Given the description of an element on the screen output the (x, y) to click on. 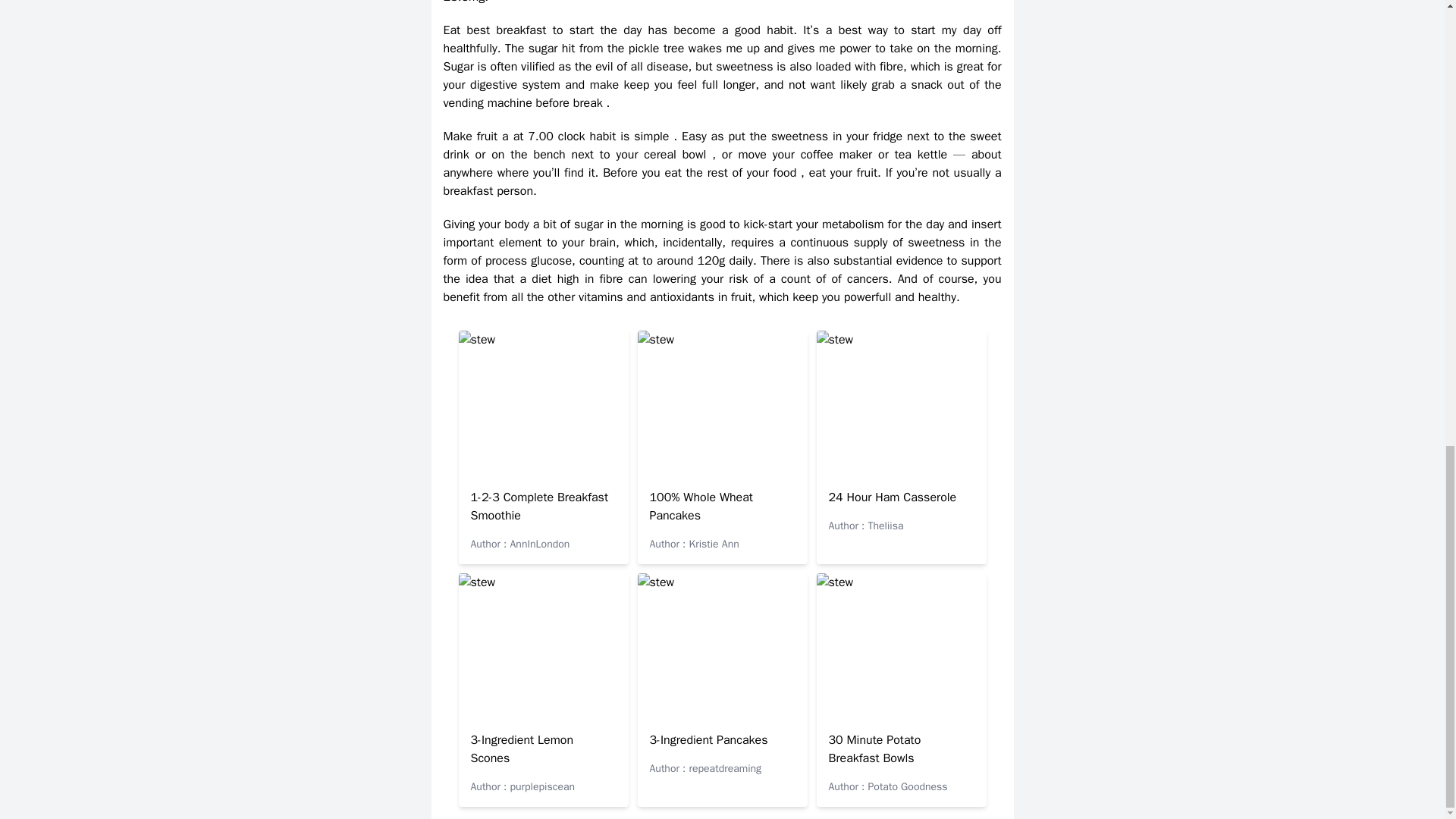
24 Hour Ham Casserole (892, 497)
1-2-3 Complete Breakfast Smoothie (539, 506)
3-Ingredient Lemon Scones (521, 748)
30 Minute Potato Breakfast Bowls (874, 748)
3-Ingredient Pancakes (708, 739)
